Given the description of an element on the screen output the (x, y) to click on. 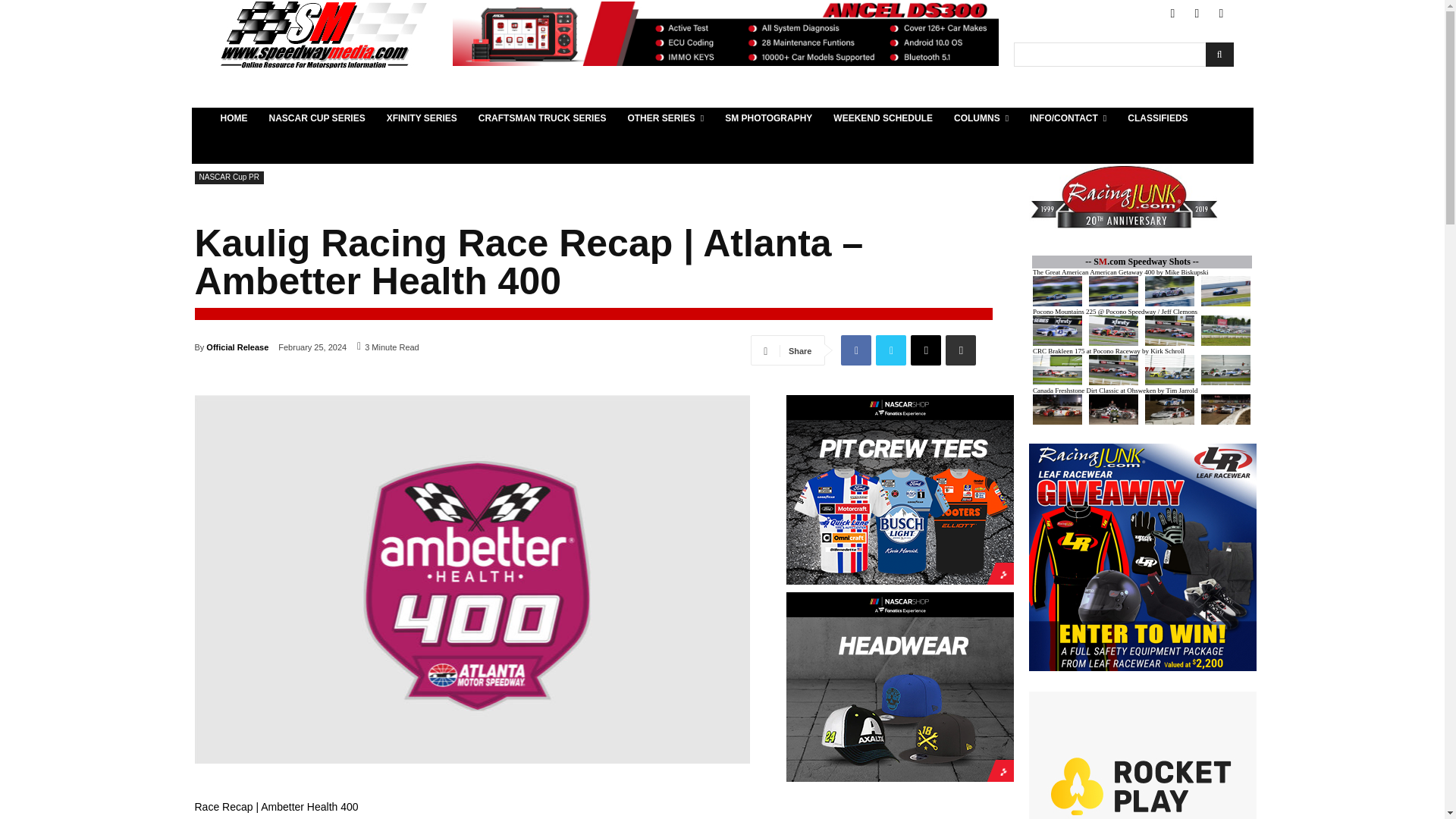
Twitter (890, 349)
Print (959, 349)
Twitter (1196, 13)
Email (925, 349)
Instagram (1220, 13)
HOME (233, 117)
Facebook (1172, 13)
NASCAR CUP SERIES (316, 117)
Facebook (855, 349)
OTHER SERIES (664, 118)
CRAFTSMAN TRUCK SERIES (542, 117)
XFINITY SERIES (421, 117)
